Given the description of an element on the screen output the (x, y) to click on. 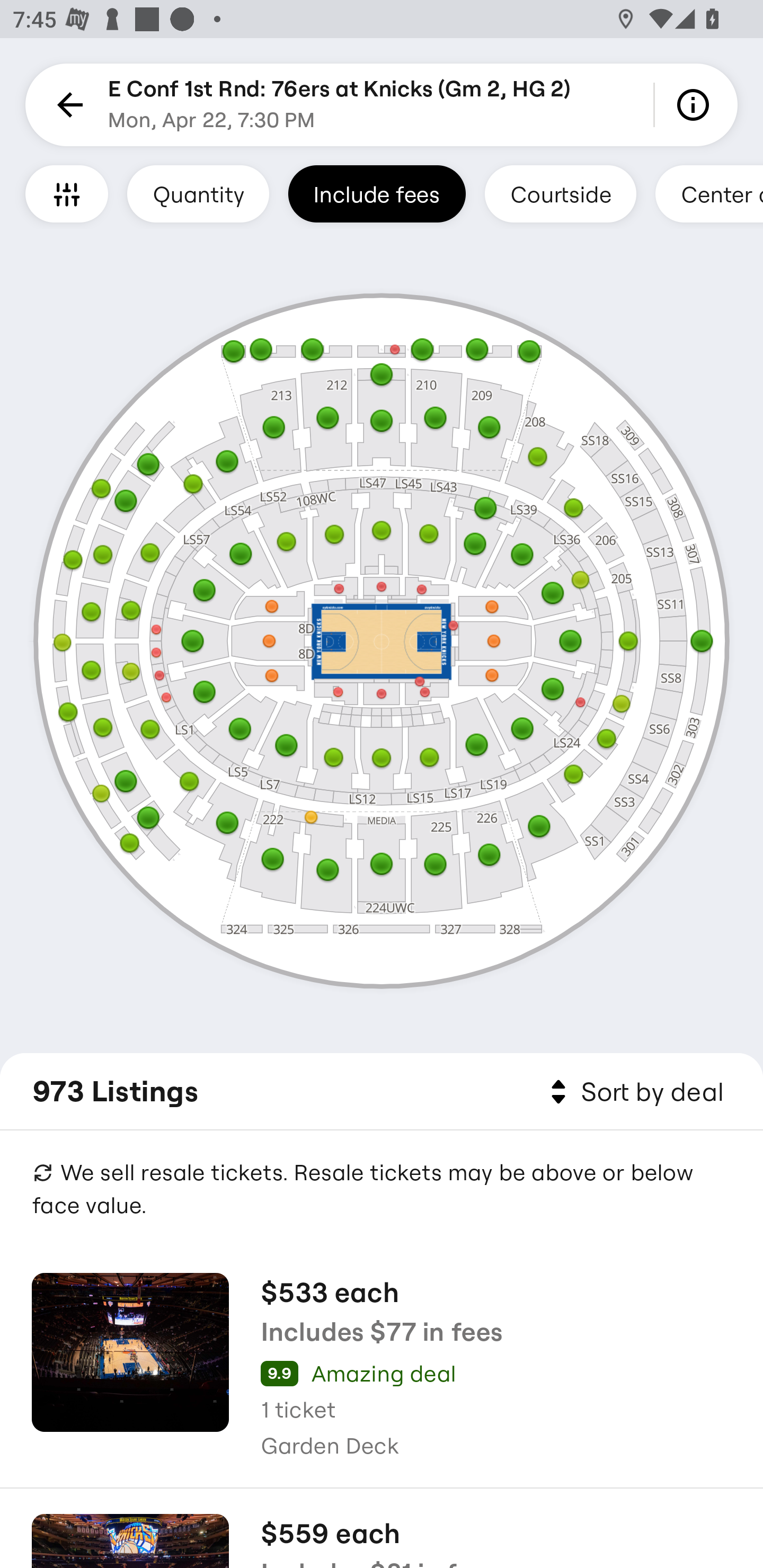
Back (66, 104)
Info (695, 104)
Filters and Accessible Seating (66, 193)
Quantity (198, 193)
Include fees (376, 193)
Courtside (560, 193)
Center court (709, 193)
Sort by deal (633, 1091)
